Given the description of an element on the screen output the (x, y) to click on. 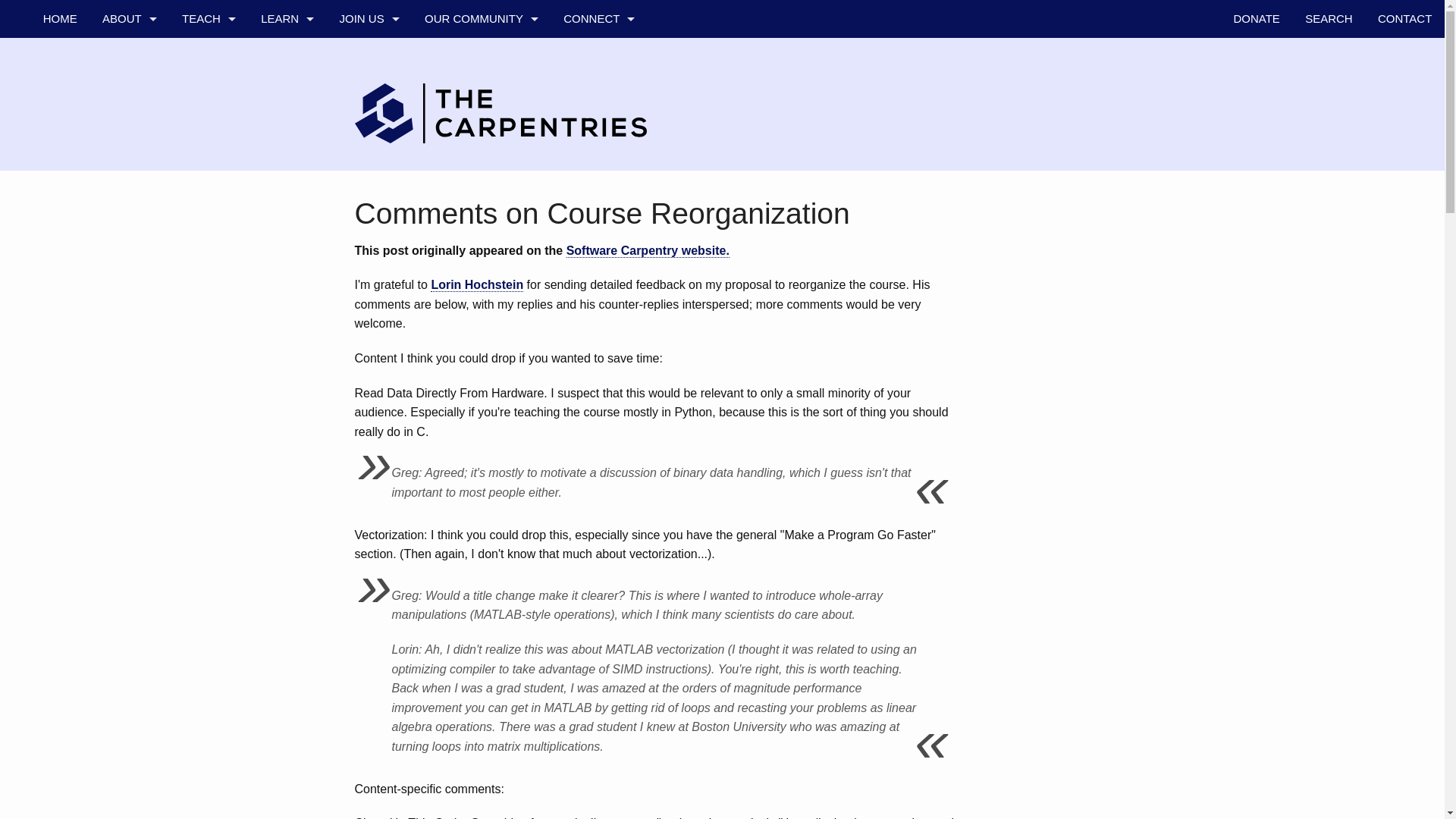
TESTIMONIALS (128, 246)
GOVERNANCE (128, 170)
DATA CARPENTRY LESSONS (207, 94)
COMMUNITY LESSONS (207, 208)
JOB VACANCIES (369, 208)
SOFTWARE CARPENTRY LESSONS (207, 132)
OUR COMMUNITY (481, 18)
OUR VALUES (128, 94)
OUR IMPACT (286, 208)
TEACH (207, 18)
